Given the description of an element on the screen output the (x, y) to click on. 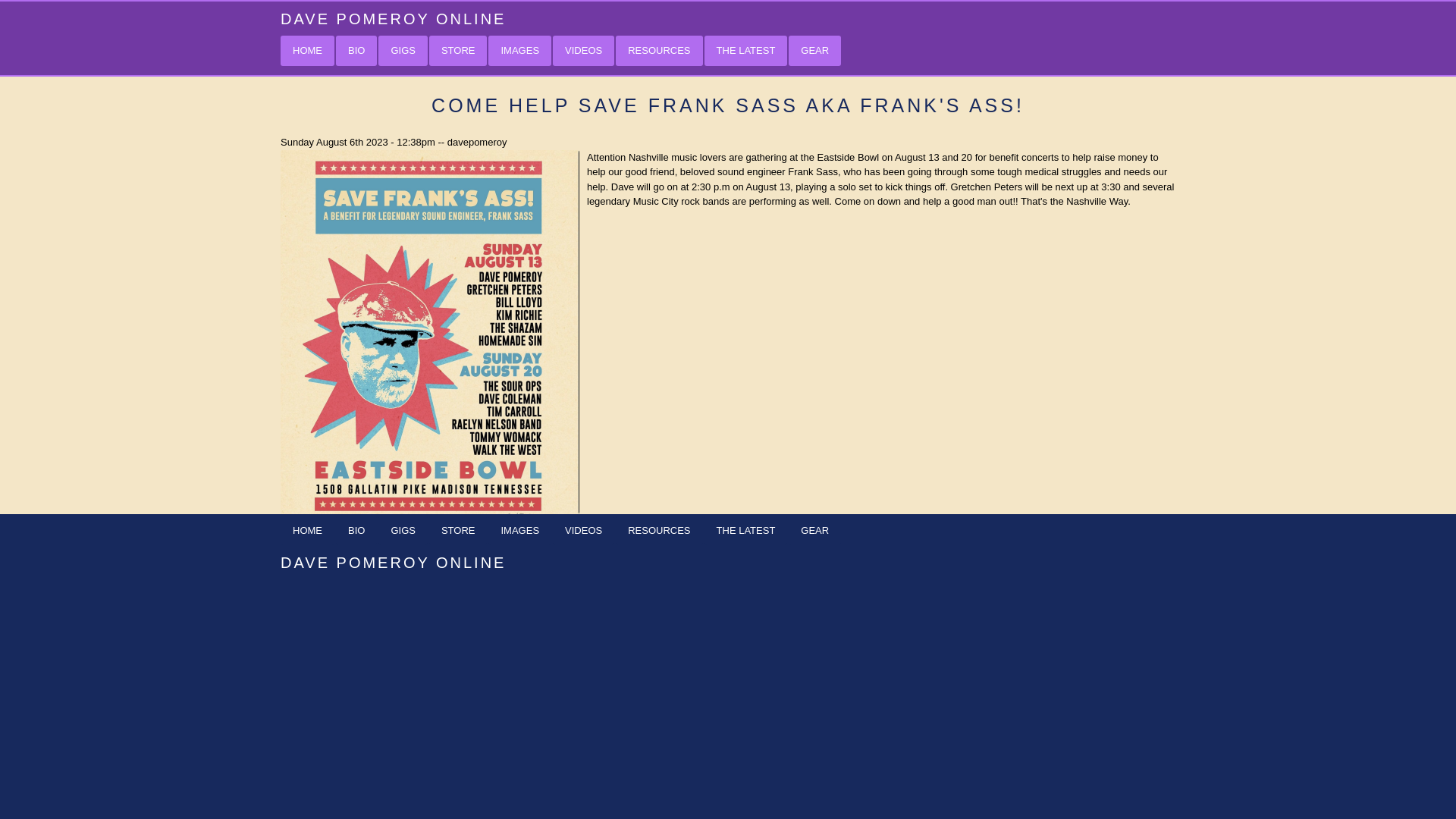
GEAR (815, 530)
BIO (356, 530)
RESOURCES (658, 51)
DAVE POMEROY ONLINE (393, 18)
IMAGES (519, 51)
THE LATEST (745, 51)
GIGS (403, 530)
BIO (356, 51)
STORE (458, 51)
THE LATEST (745, 530)
Home (393, 18)
GEAR (815, 51)
STORE (458, 530)
HOME (307, 530)
IMAGES (519, 530)
